Given the description of an element on the screen output the (x, y) to click on. 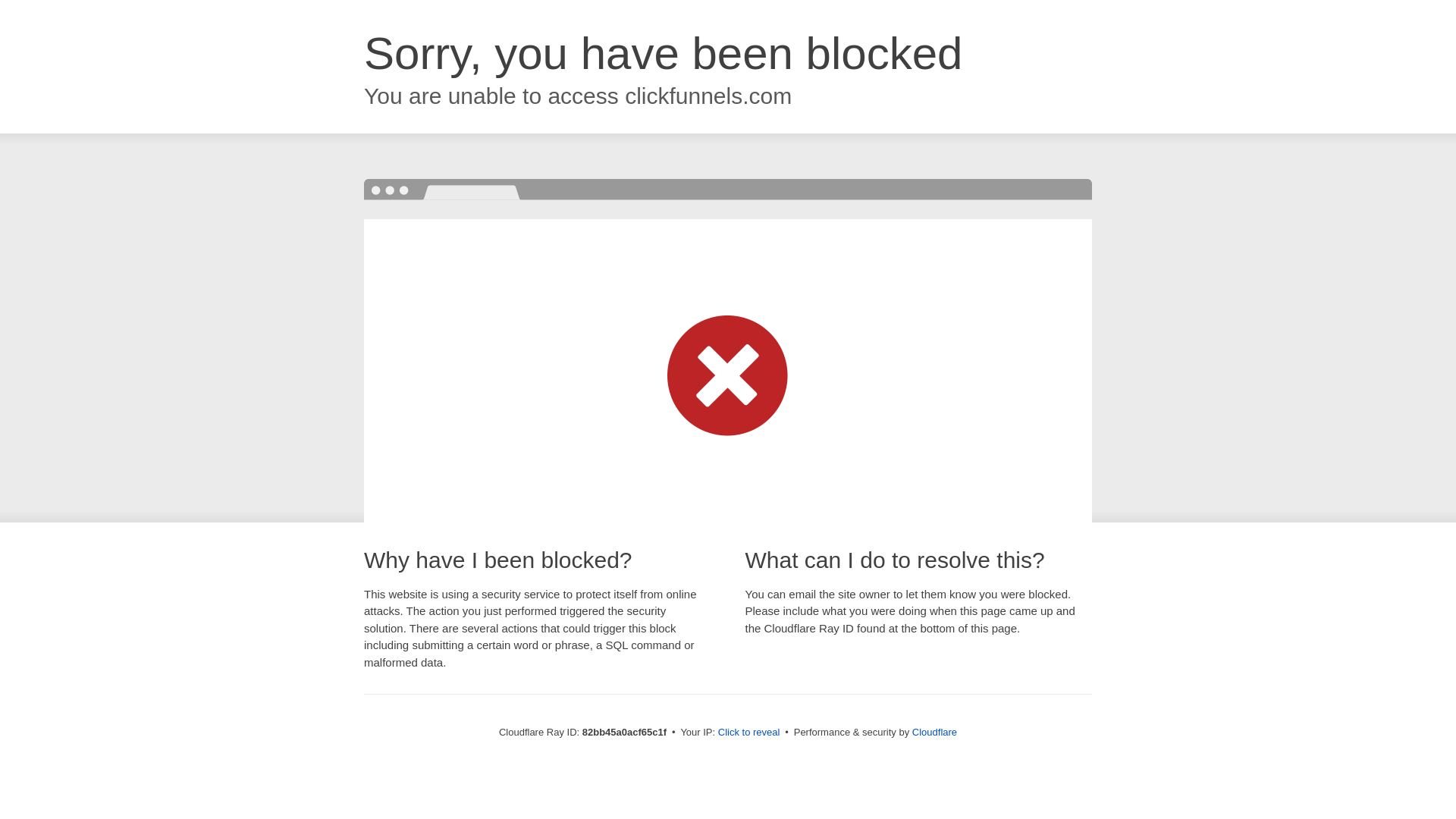
Cloudflare Element type: text (934, 731)
Click to reveal Element type: text (749, 732)
